Given the description of an element on the screen output the (x, y) to click on. 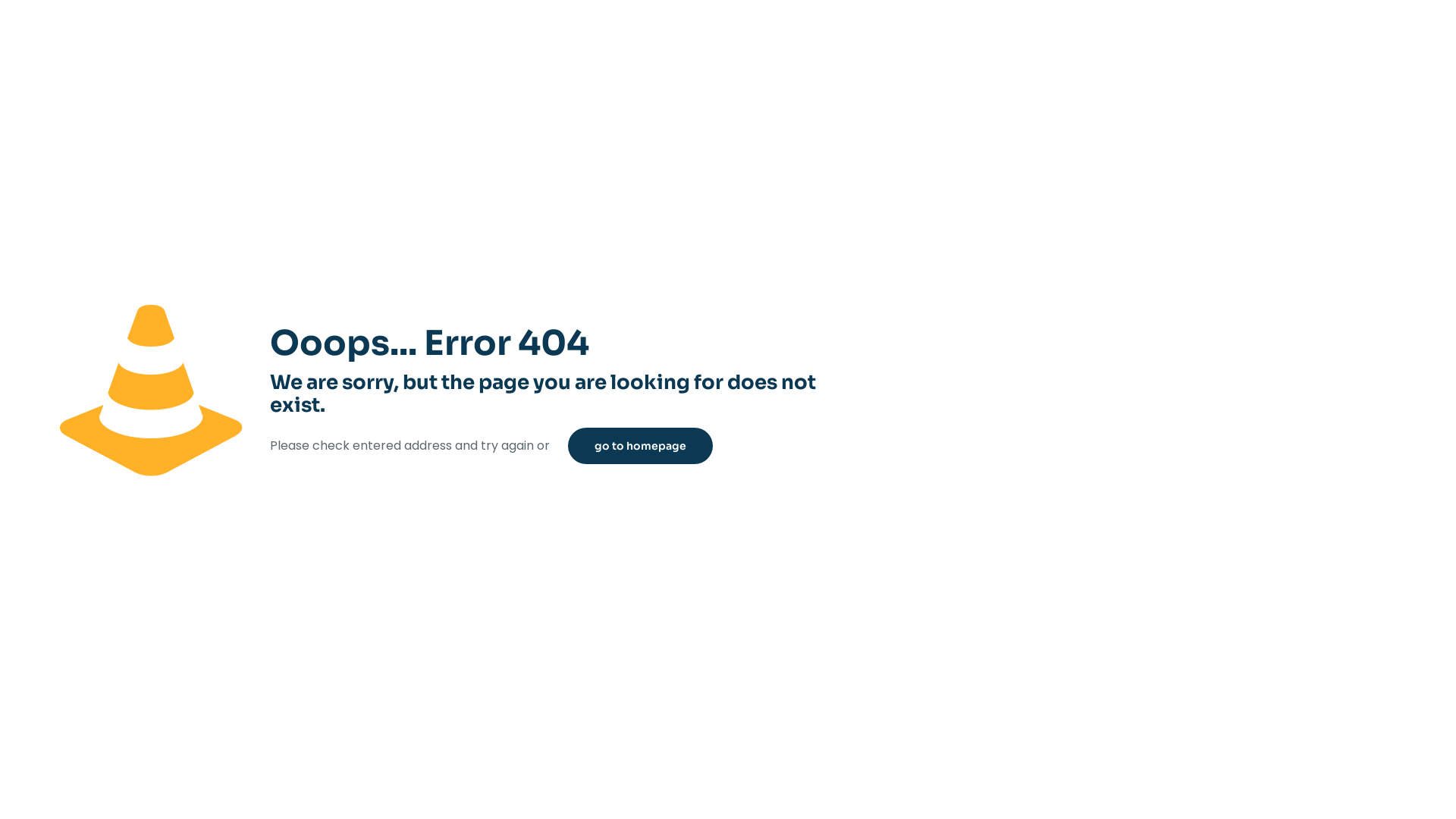
go to homepage Element type: text (639, 445)
